Given the description of an element on the screen output the (x, y) to click on. 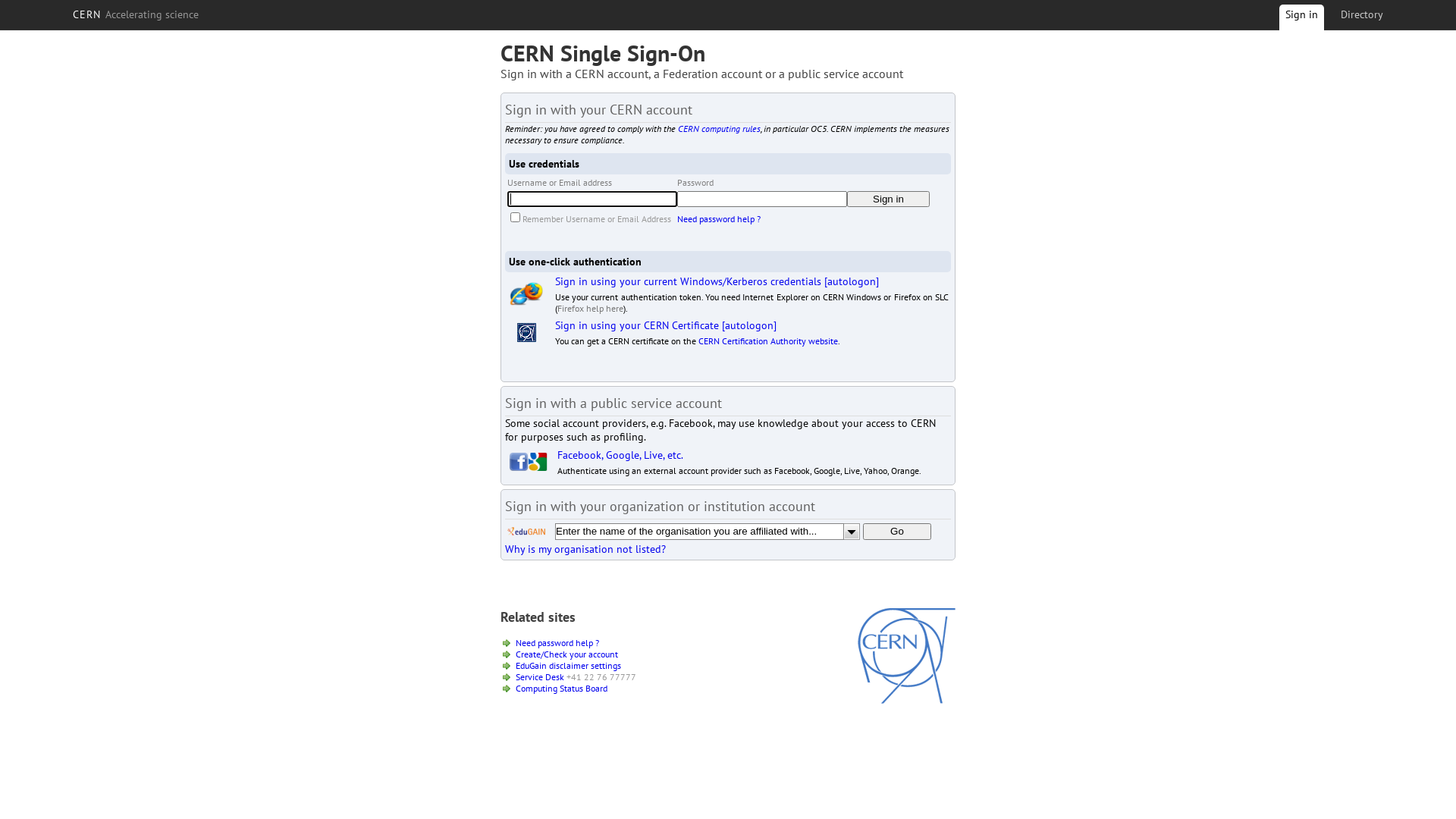
CERN computing rules Element type: text (718, 128)
[show debug information] Element type: text (549, 565)
CERN Accelerating science Element type: text (135, 14)
Need password help ? Element type: text (718, 218)
Firefox help here Element type: text (590, 307)
Computing Status Board Element type: text (561, 687)
Go Element type: text (896, 531)
CERN Element type: hover (906, 699)
Need password help ? Element type: text (557, 642)
EduGain disclaimer settings Element type: text (568, 665)
Why is my organisation not listed? Element type: text (585, 548)
Sign in using your CERN Certificate Element type: text (636, 325)
CERN Certification Authority website Element type: text (767, 340)
Create/Check your account Element type: text (566, 653)
Directory Element type: text (1361, 14)
Sign in using your current Windows/Kerberos credentials Element type: text (688, 281)
[autologon] Element type: text (851, 281)
Sign in Element type: text (888, 199)
Facebook, Google, Live, etc. Element type: text (620, 454)
Service Desk Element type: text (539, 676)
Sign in Element type: text (1301, 19)
CERN Single Sign-On Element type: text (602, 52)
Enter your Username or Email Address Element type: hover (592, 199)
[autologon] Element type: text (748, 325)
